Given the description of an element on the screen output the (x, y) to click on. 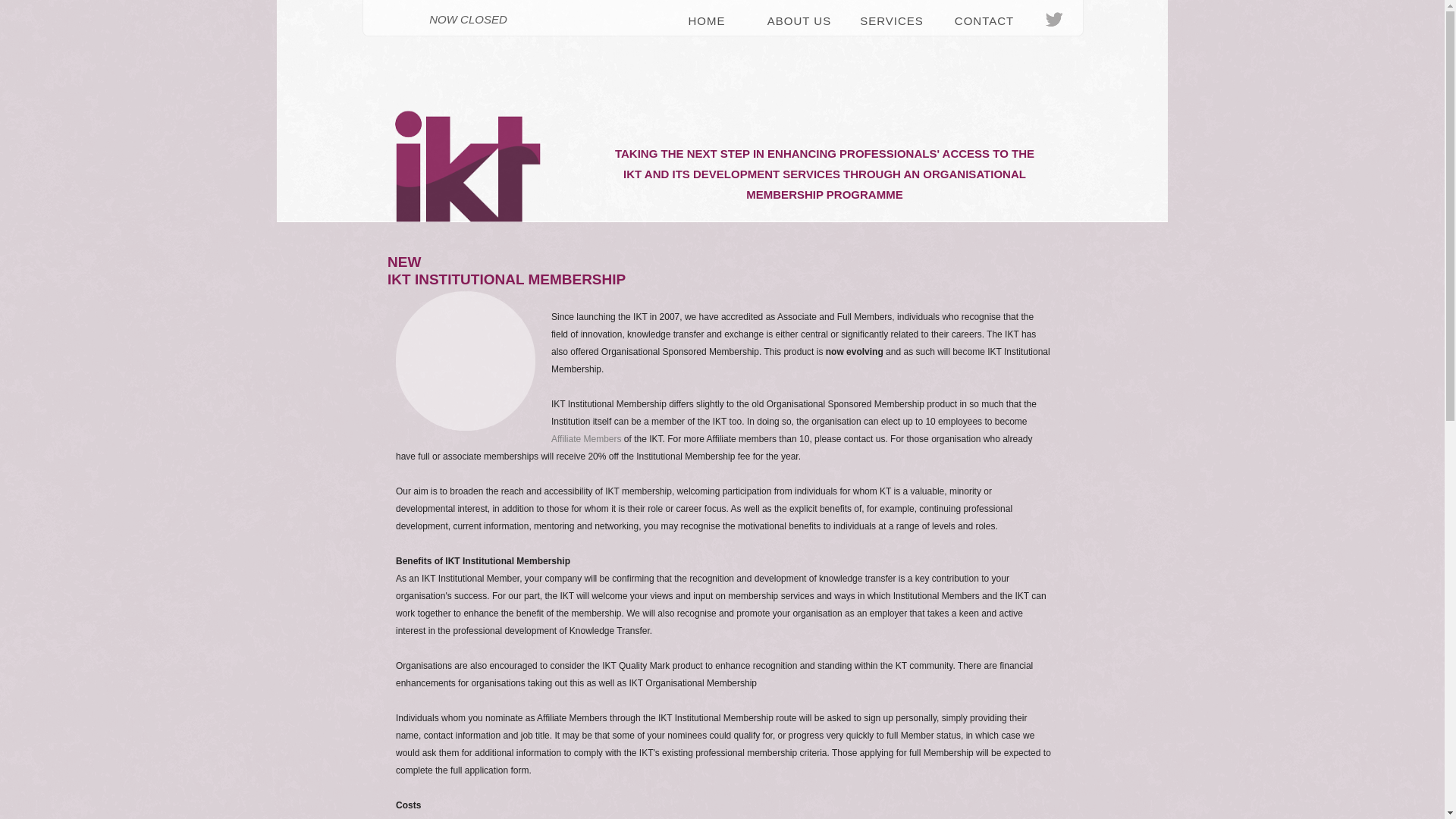
CONTACT (984, 20)
Affiliate Members (586, 439)
SERVICES (891, 20)
HOME (706, 20)
ABOUT US (799, 20)
